Given the description of an element on the screen output the (x, y) to click on. 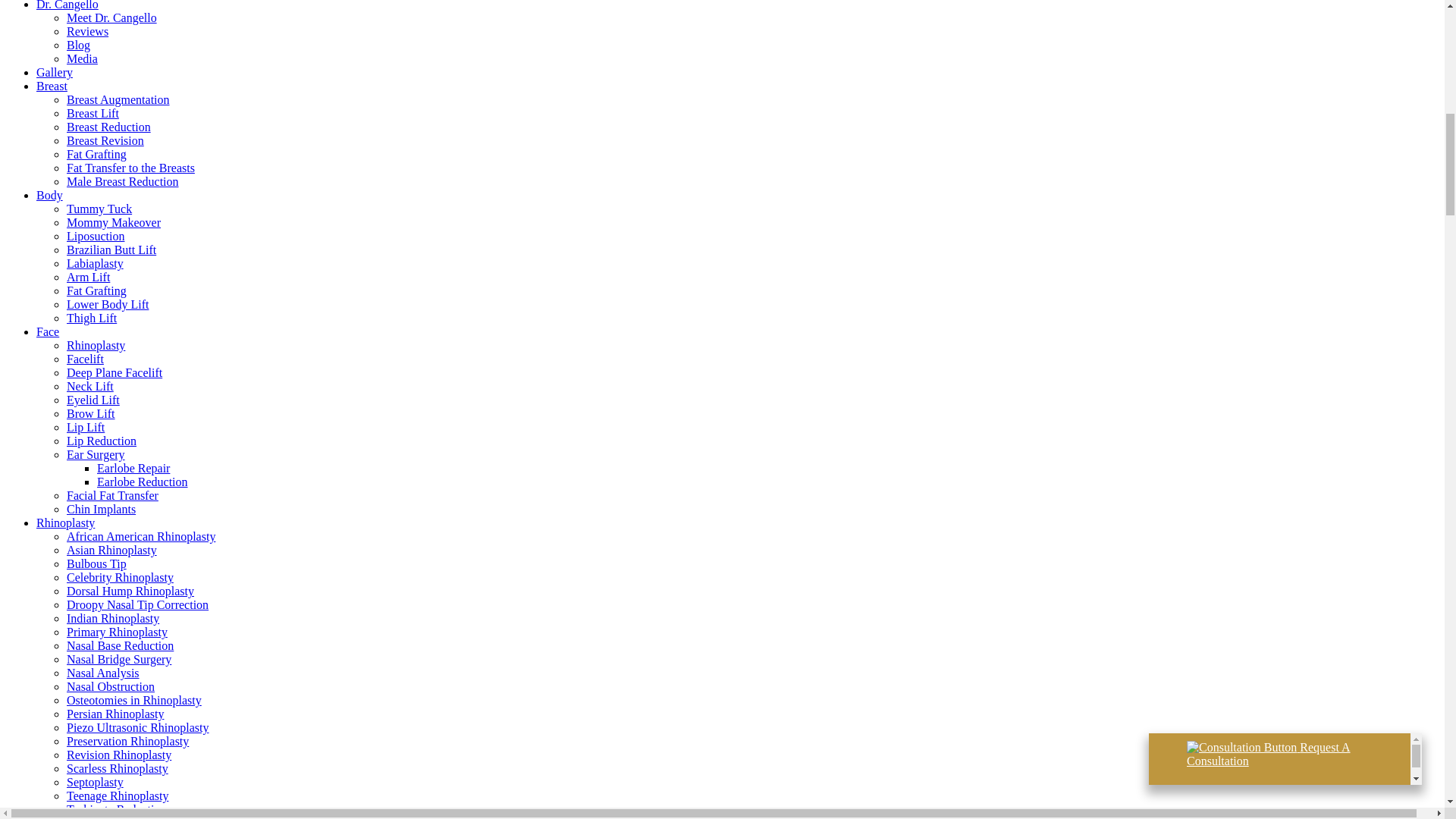
Brazilian Butt Lift (110, 249)
true (1168, 347)
Male Breast Reduction (122, 181)
Blog (78, 44)
Breast Lift (92, 113)
Dr. Cangello (67, 5)
Fat Grafting (96, 154)
Thigh Lift (91, 318)
Meet Dr. Cangello (111, 17)
true (1168, 377)
